Given the description of an element on the screen output the (x, y) to click on. 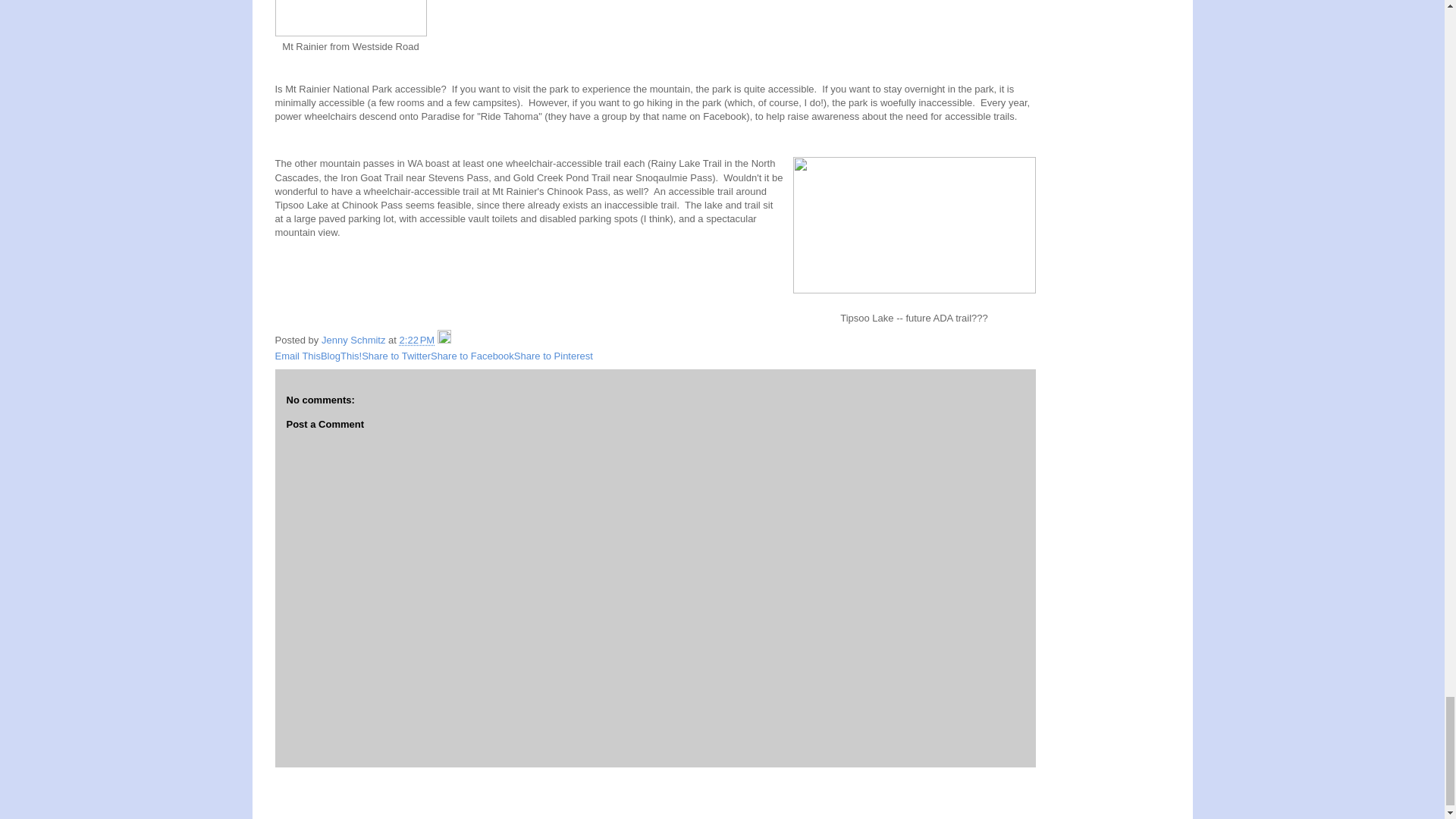
permanent link (416, 339)
BlogThis! (340, 355)
Share to Facebook (471, 355)
Share to Twitter (395, 355)
Edit Post (444, 339)
Email This (297, 355)
Share to Pinterest (552, 355)
author profile (354, 339)
